Given the description of an element on the screen output the (x, y) to click on. 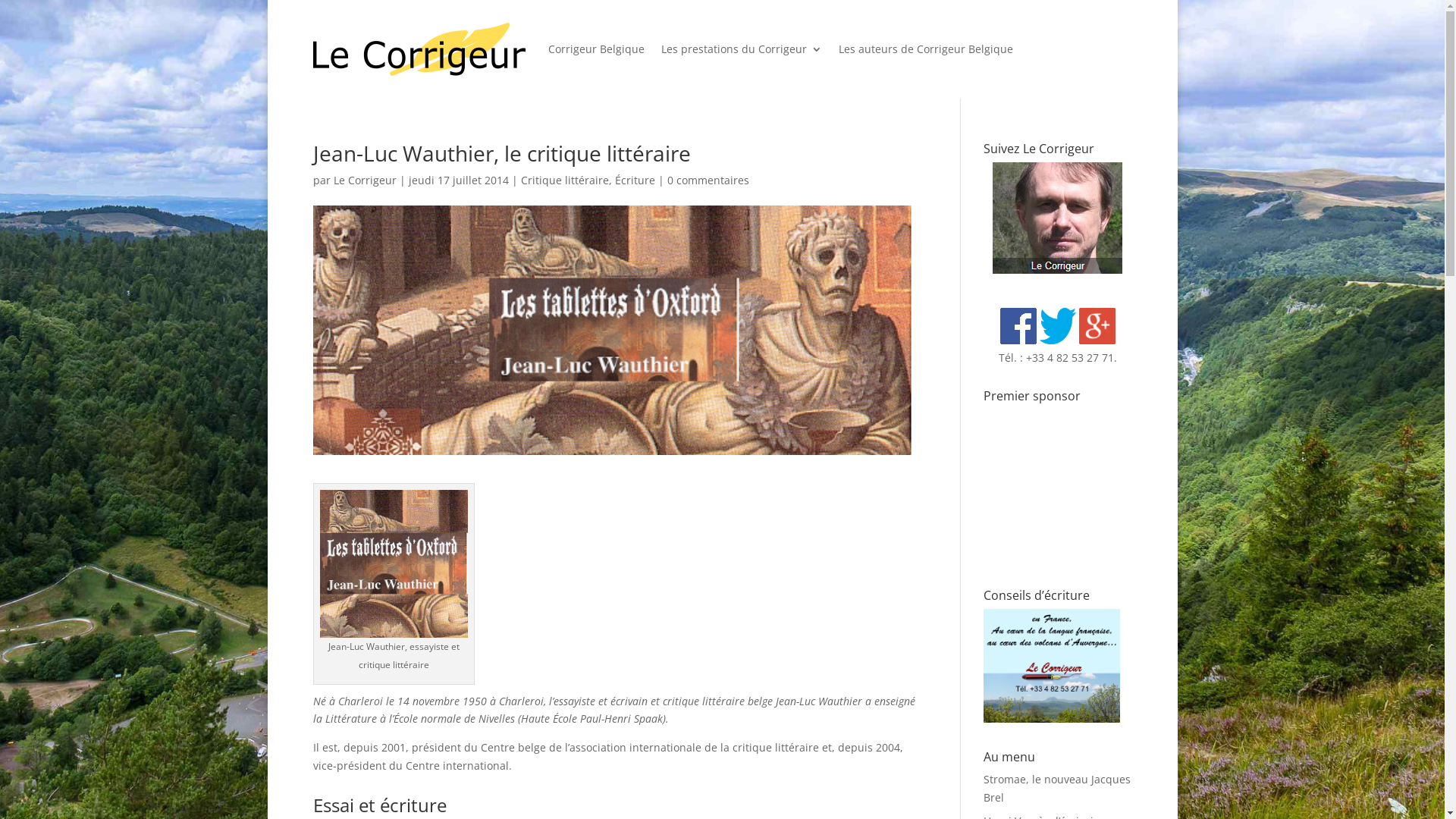
Rejoignez le cercle du Corrigeur sur Facebook. Element type: hover (1018, 339)
0 commentaires Element type: text (708, 179)
Le Corrigeur Element type: hover (1051, 718)
Le corrigeur Element type: hover (1057, 269)
Les prestations du Corrigeur Element type: text (741, 49)
Rejoignez le cercle du Corrigeur sur FaceBook. Element type: hover (1018, 325)
Les auteurs de Corrigeur Belgique Element type: text (925, 49)
Corrigeur Belgique Element type: text (595, 49)
Venez tweeter avec Le Corrigeur. Element type: hover (1057, 325)
Le Corrigeur Element type: text (364, 179)
Venez google+1 Le Corrigeur. Element type: hover (1097, 325)
Rejoignez le Twitter du Corrigeur. Element type: hover (1057, 339)
Stromae, le nouveau Jacques Brel Element type: text (1056, 787)
Corrigeur Element type: hover (1051, 665)
